Given the description of an element on the screen output the (x, y) to click on. 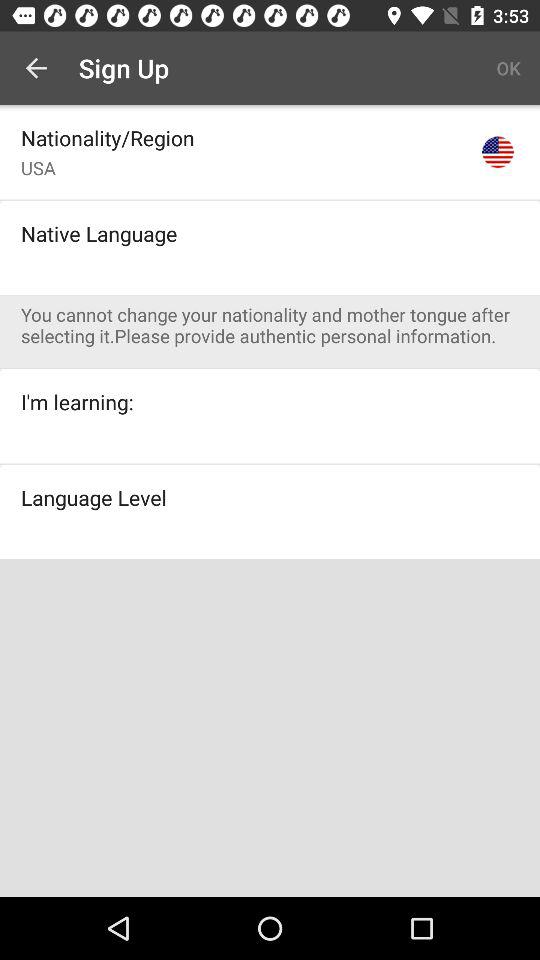
jump to ok item (508, 67)
